Given the description of an element on the screen output the (x, y) to click on. 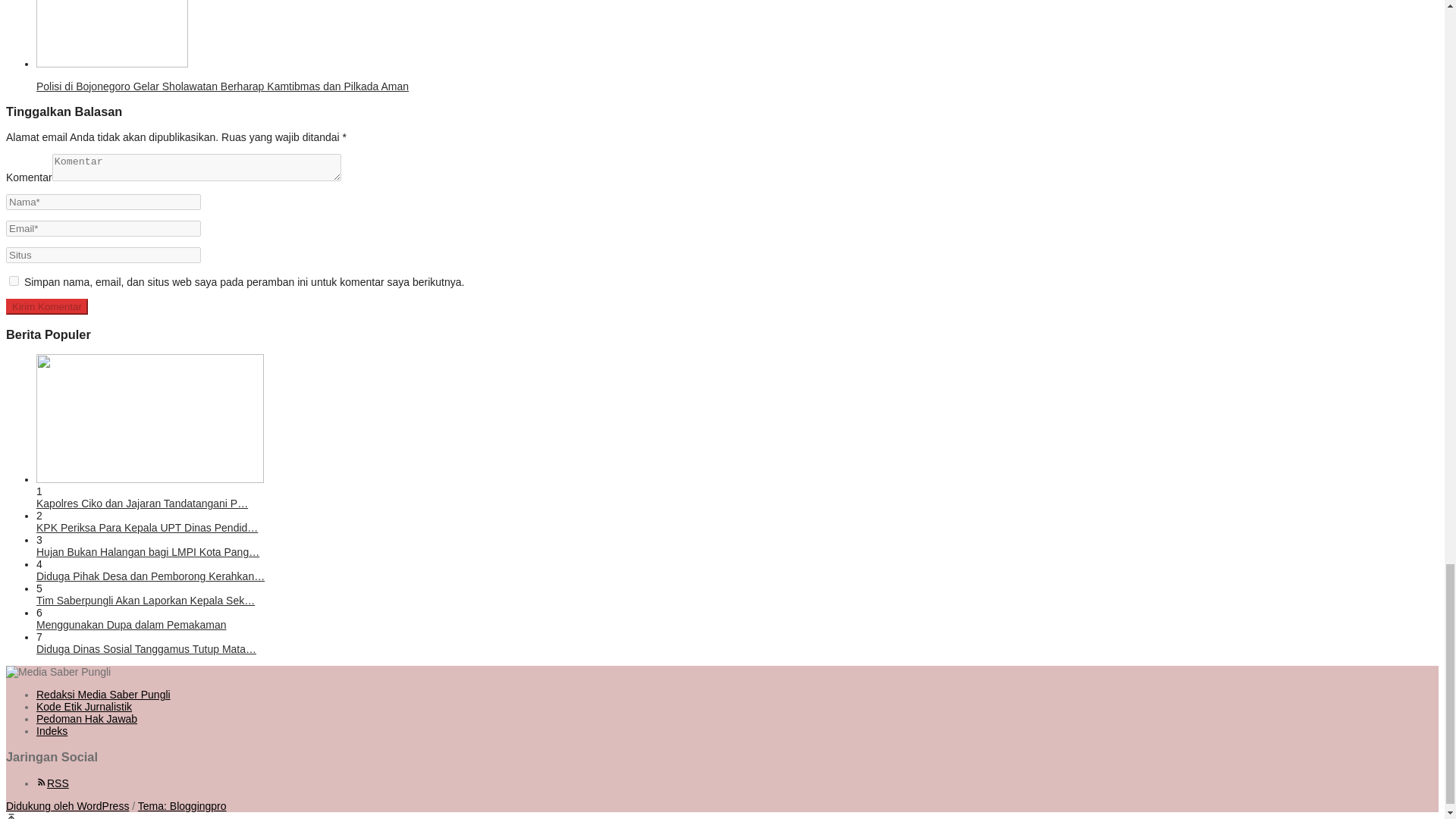
yes (13, 280)
Kirim Komentar (46, 306)
